Given the description of an element on the screen output the (x, y) to click on. 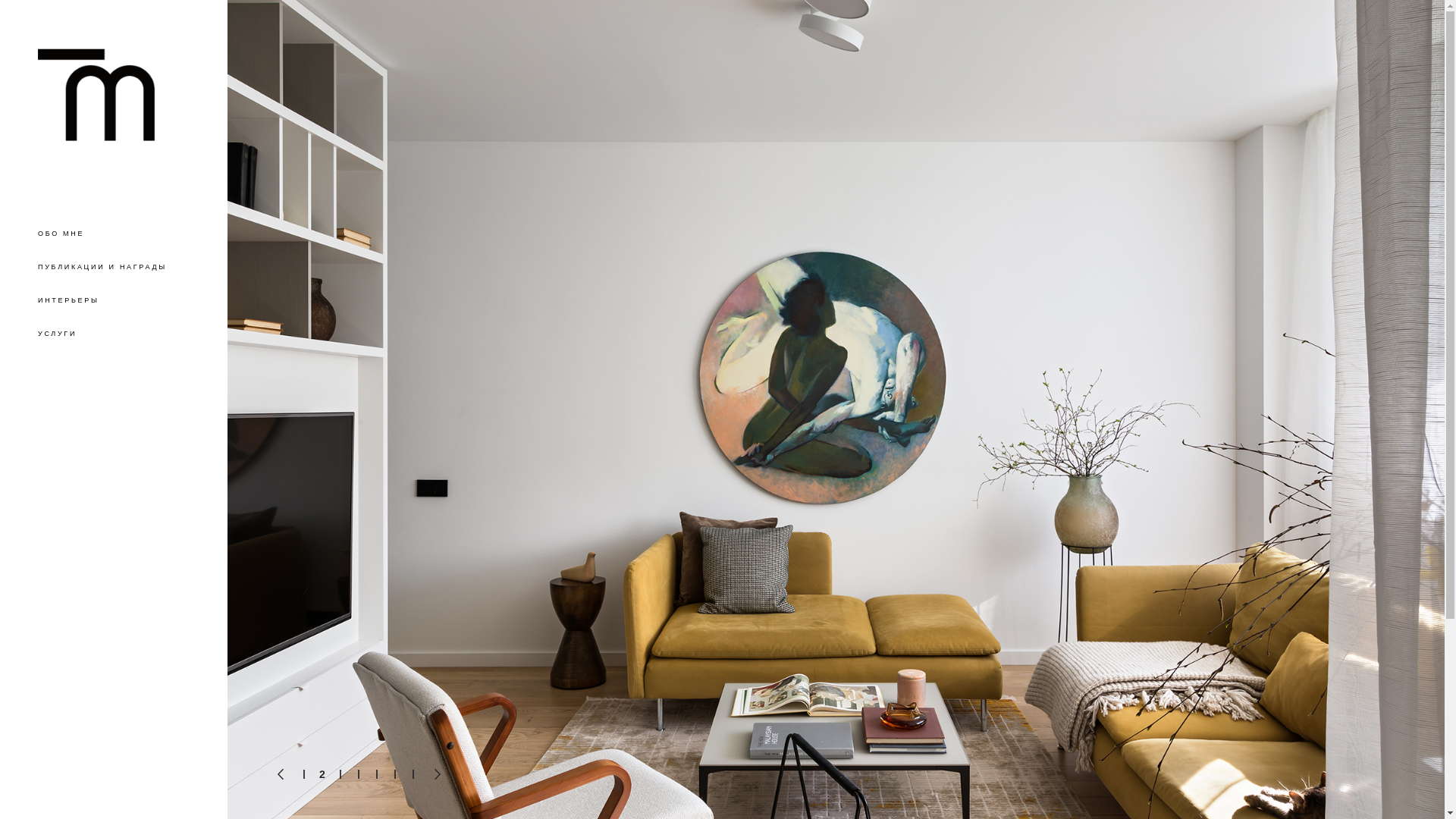
1 Element type: text (303, 774)
